Given the description of an element on the screen output the (x, y) to click on. 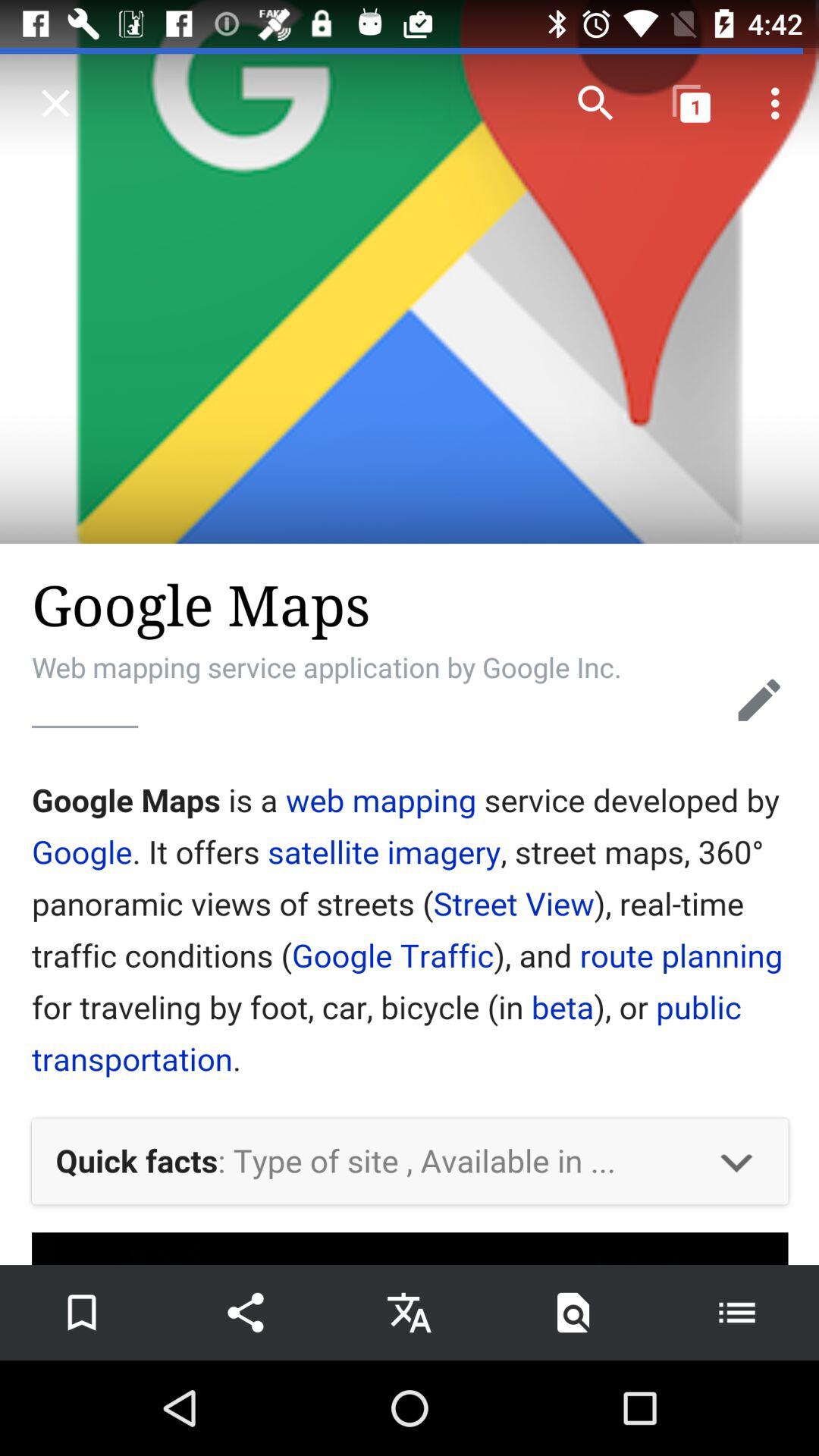
click on the search icon (595, 103)
select the icon right to the search icon (691, 103)
select the icon below the text google maps (759, 700)
click on the last icon which is at  top right corner (779, 103)
select text search icon which is at the bottom of the screen (573, 1312)
